Given the description of an element on the screen output the (x, y) to click on. 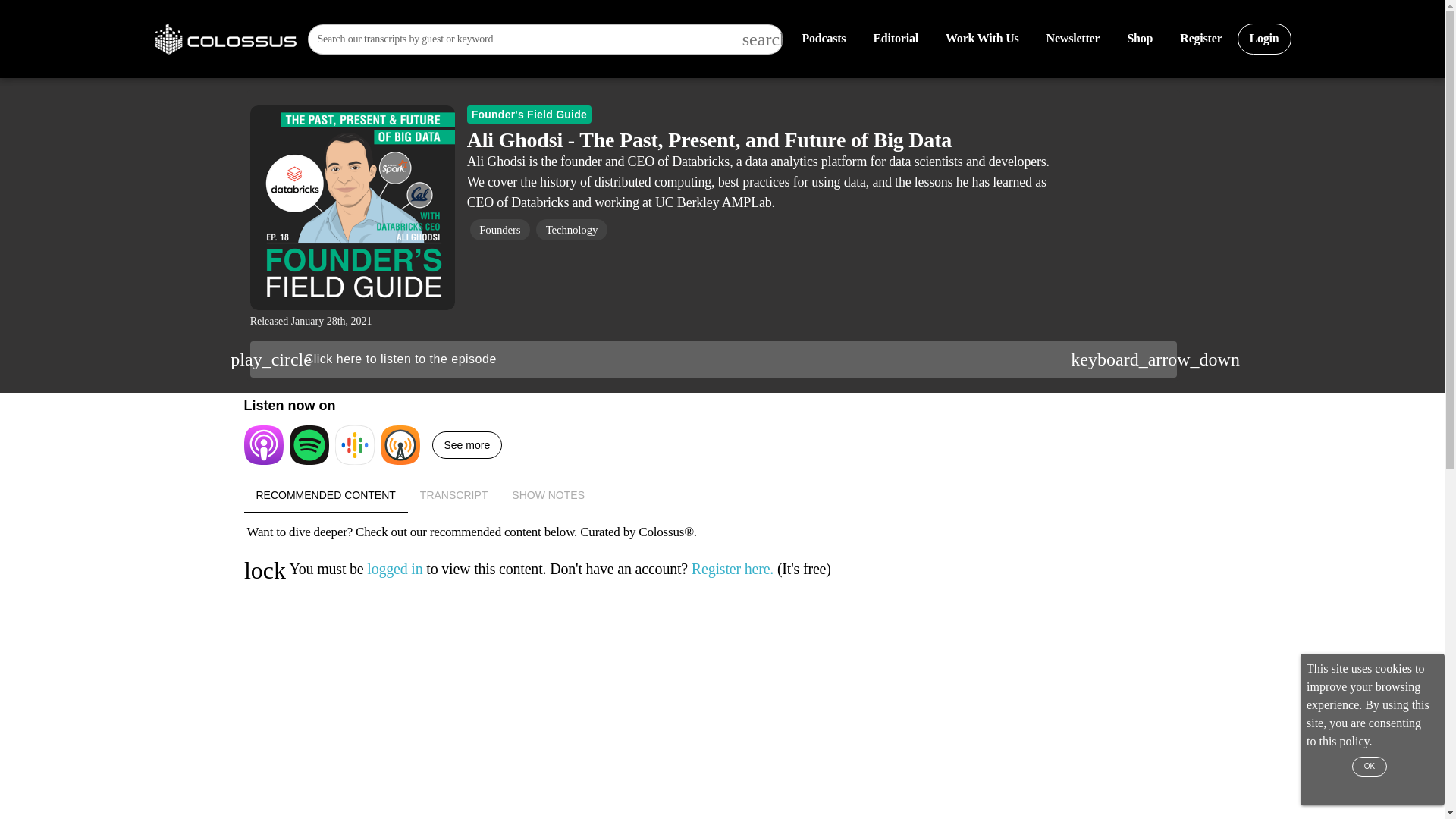
Login (1264, 38)
OK (1369, 766)
See more (467, 444)
Newsletter (1072, 38)
Work With Us (981, 38)
Shop (722, 494)
Podcasts (722, 494)
Editorial (1139, 38)
TRANSCRIPT (823, 38)
Register (895, 38)
RECOMMENDED CONTENT (453, 494)
SHOW NOTES (1200, 38)
